Given the description of an element on the screen output the (x, y) to click on. 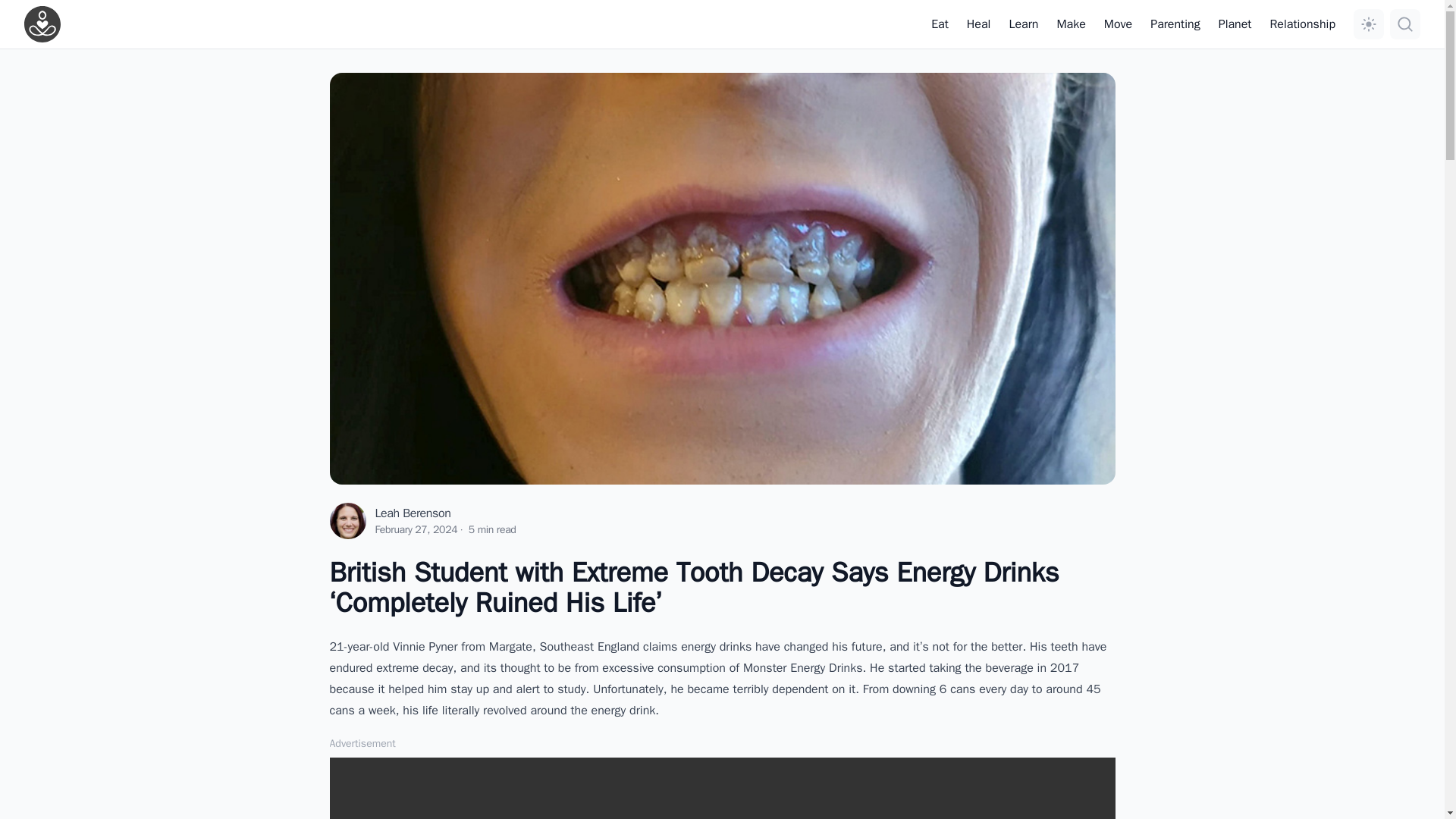
Parenting (1174, 23)
Eat (940, 23)
Leah Berenson (411, 513)
Make (1070, 23)
Move (1117, 23)
Relationship (1302, 23)
Planet (1235, 23)
Learn (1023, 23)
Heal (978, 23)
